Given the description of an element on the screen output the (x, y) to click on. 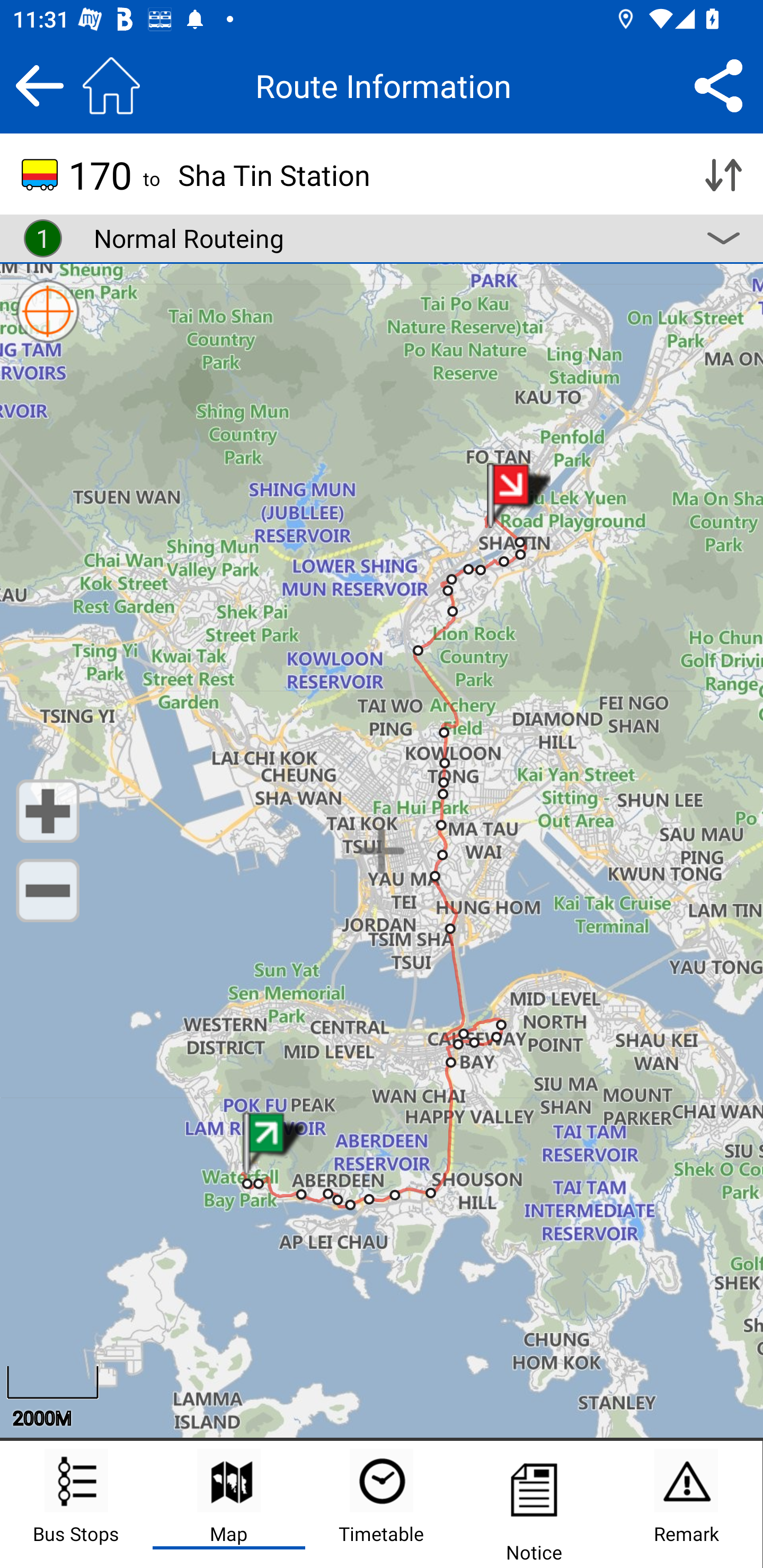
Jump to home page (111, 85)
Share point to point route search criteria) (718, 85)
Back (39, 85)
Reverse direction (723, 174)
Other routes (723, 238)
Bus Stops (76, 1504)
Map (228, 1504)
Timetable (381, 1504)
Notice (533, 1504)
Remark (686, 1504)
